Given the description of an element on the screen output the (x, y) to click on. 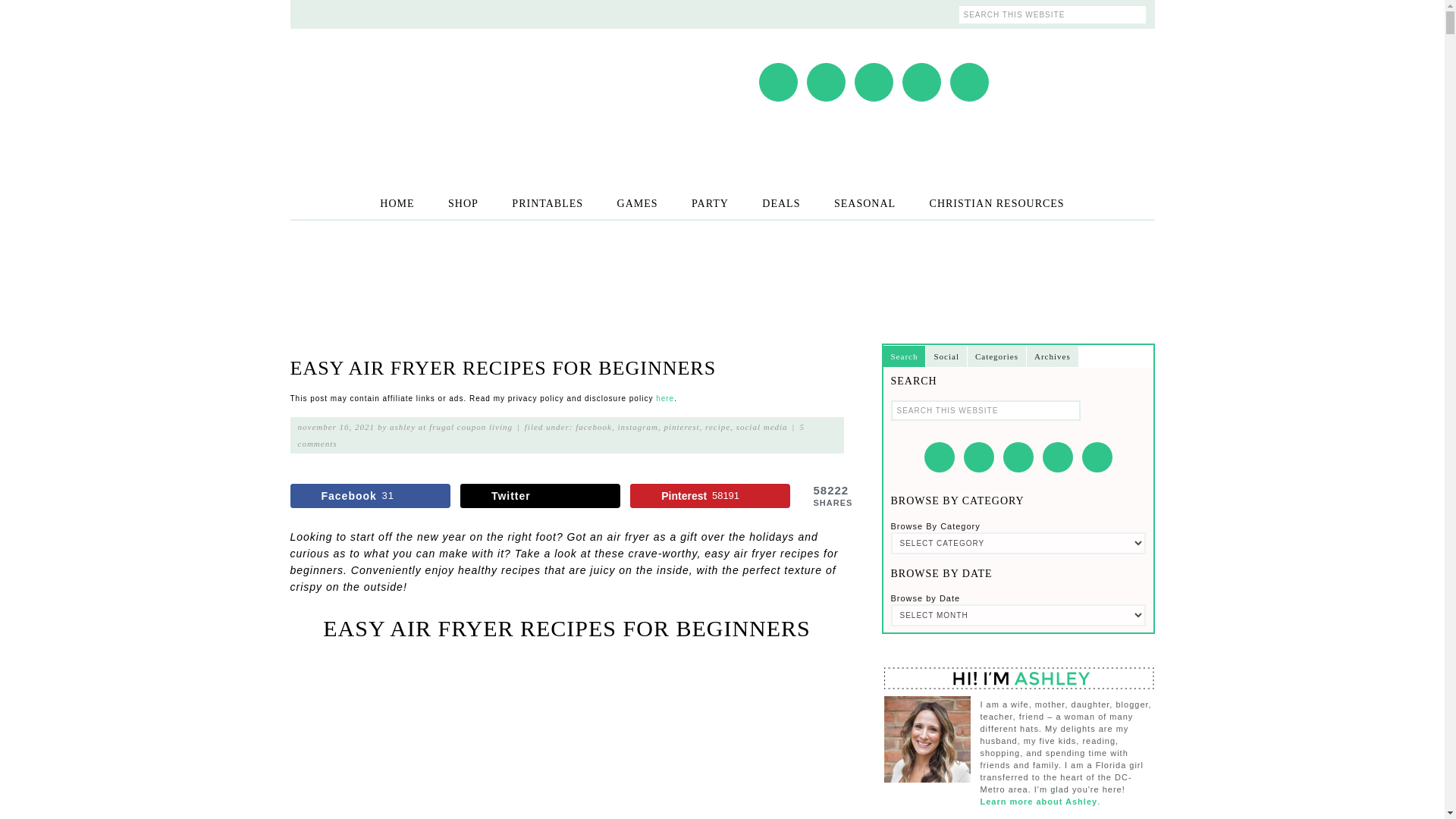
PRINTABLES (547, 203)
Share on Facebook (369, 495)
Share on X (540, 495)
DEALS (780, 203)
SHOP (462, 203)
SEASONAL (864, 203)
PARTY (710, 203)
HOME (397, 203)
CHRISTIAN RESOURCES (997, 203)
Frugal Coupon Living (441, 90)
